Given the description of an element on the screen output the (x, y) to click on. 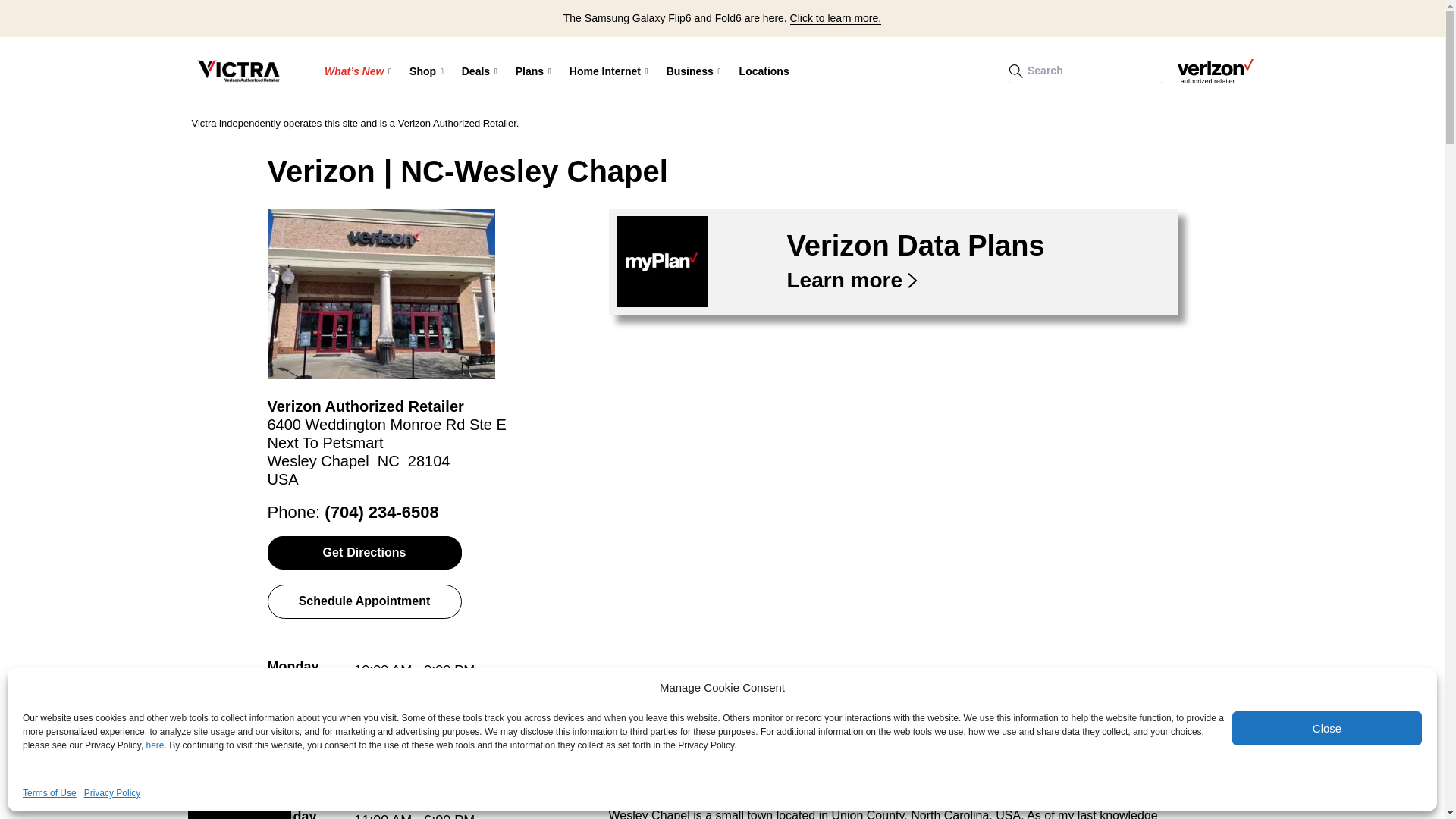
Deals (479, 70)
Apple (561, 122)
Click to learn more. (836, 18)
Close (1326, 728)
Apple iPhone 15 Series (424, 121)
Accessories (561, 121)
Mobile (615, 122)
Privacy Policy (112, 793)
Plans (533, 70)
Shop (426, 70)
here (155, 745)
Apple (510, 122)
Terms of Use (50, 793)
All Devices (510, 121)
